Given the description of an element on the screen output the (x, y) to click on. 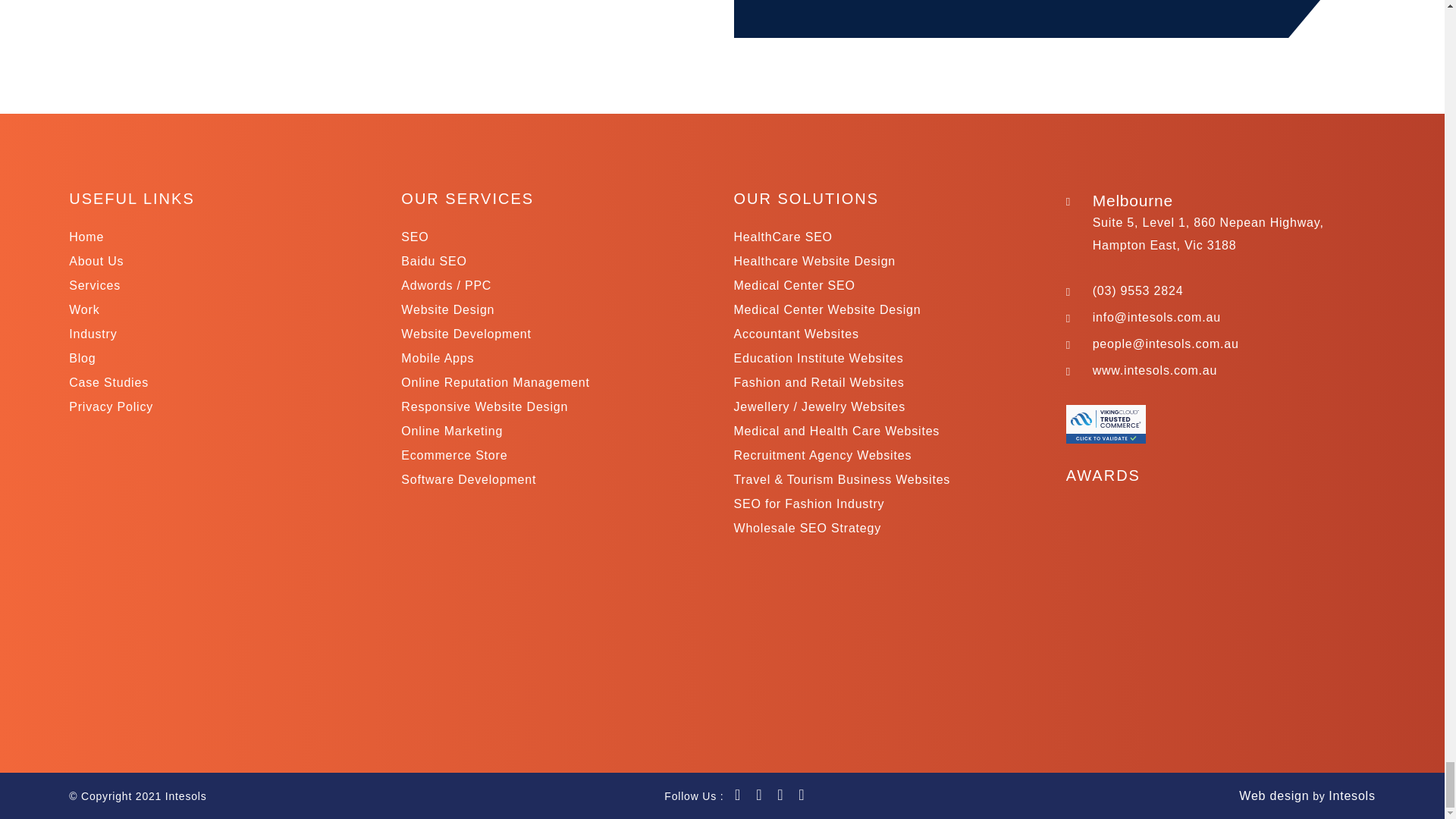
logo (225, 795)
